Given the description of an element on the screen output the (x, y) to click on. 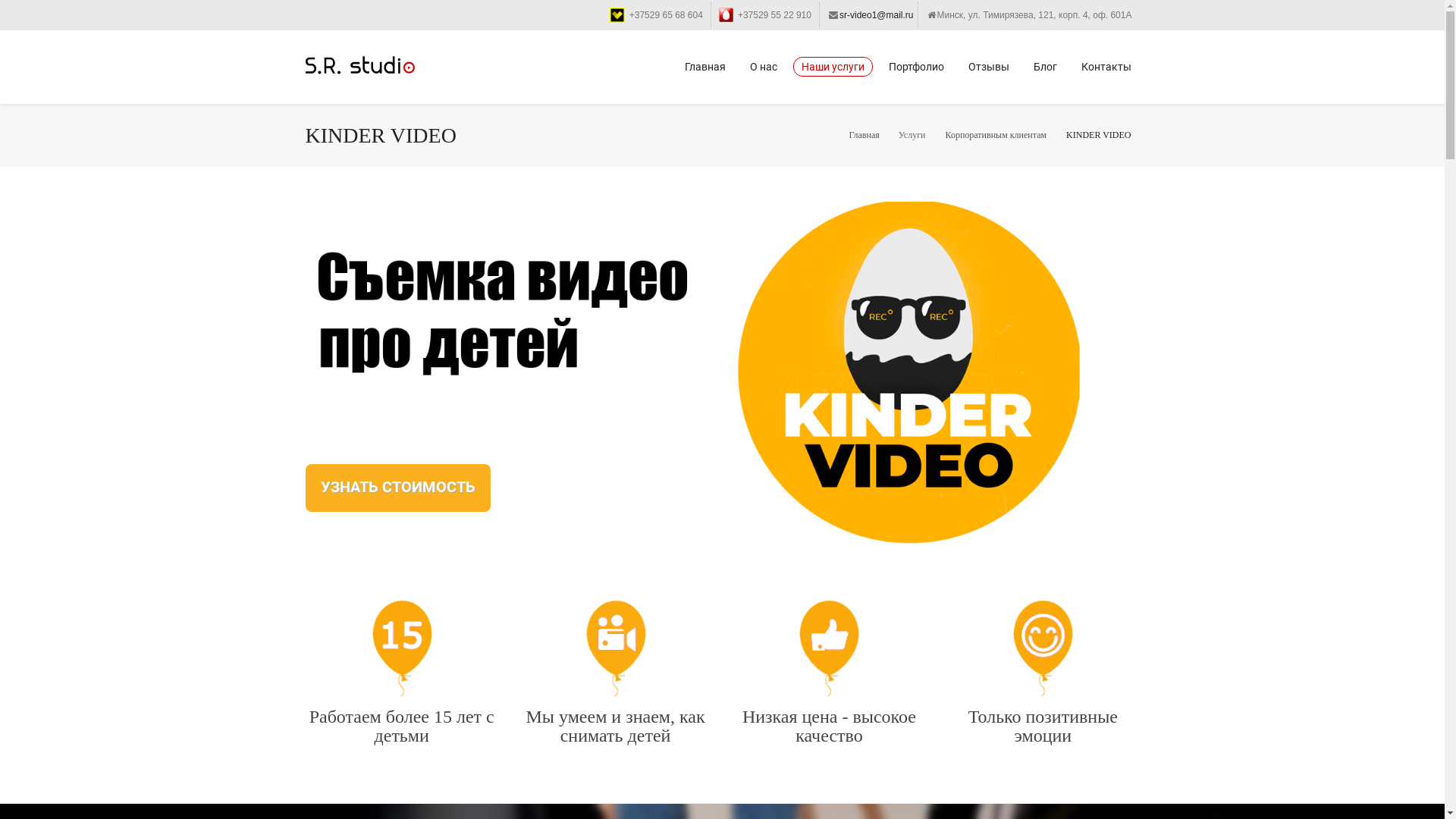
sr-video1@mail.ru Element type: text (876, 14)
+375 29 656 86 04 Element type: text (1010, 641)
KINDER VIDEO Element type: text (1098, 133)
sr-video1@mail.ru Element type: text (1009, 583)
